Given the description of an element on the screen output the (x, y) to click on. 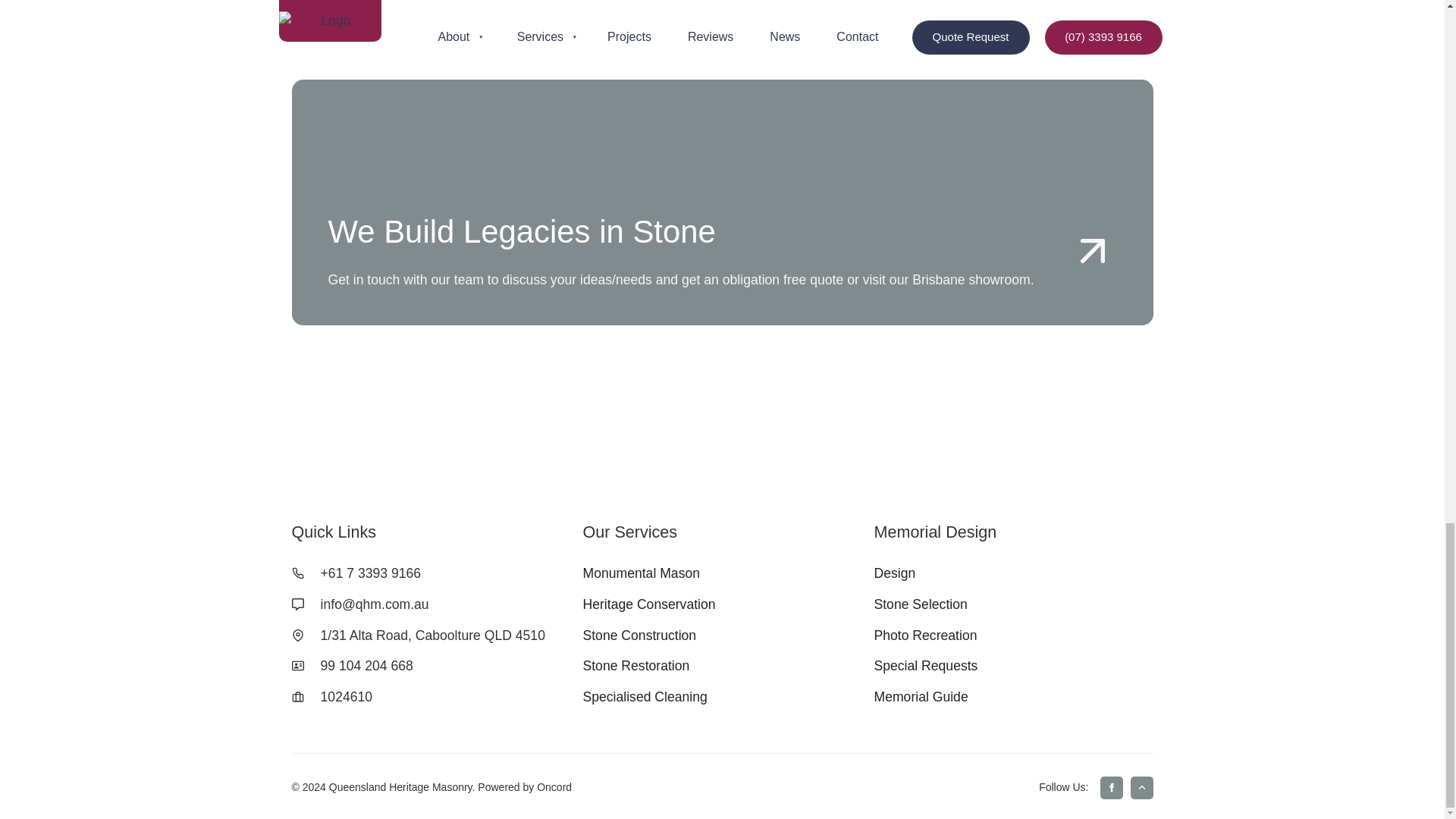
Stone Restoration (635, 665)
Design (894, 572)
Facebook (1110, 787)
Stone Construction (638, 635)
Heritage Conservation (648, 604)
Monumental Mason (641, 572)
Stone Selection (919, 604)
Specialised Cleaning (644, 696)
